Given the description of an element on the screen output the (x, y) to click on. 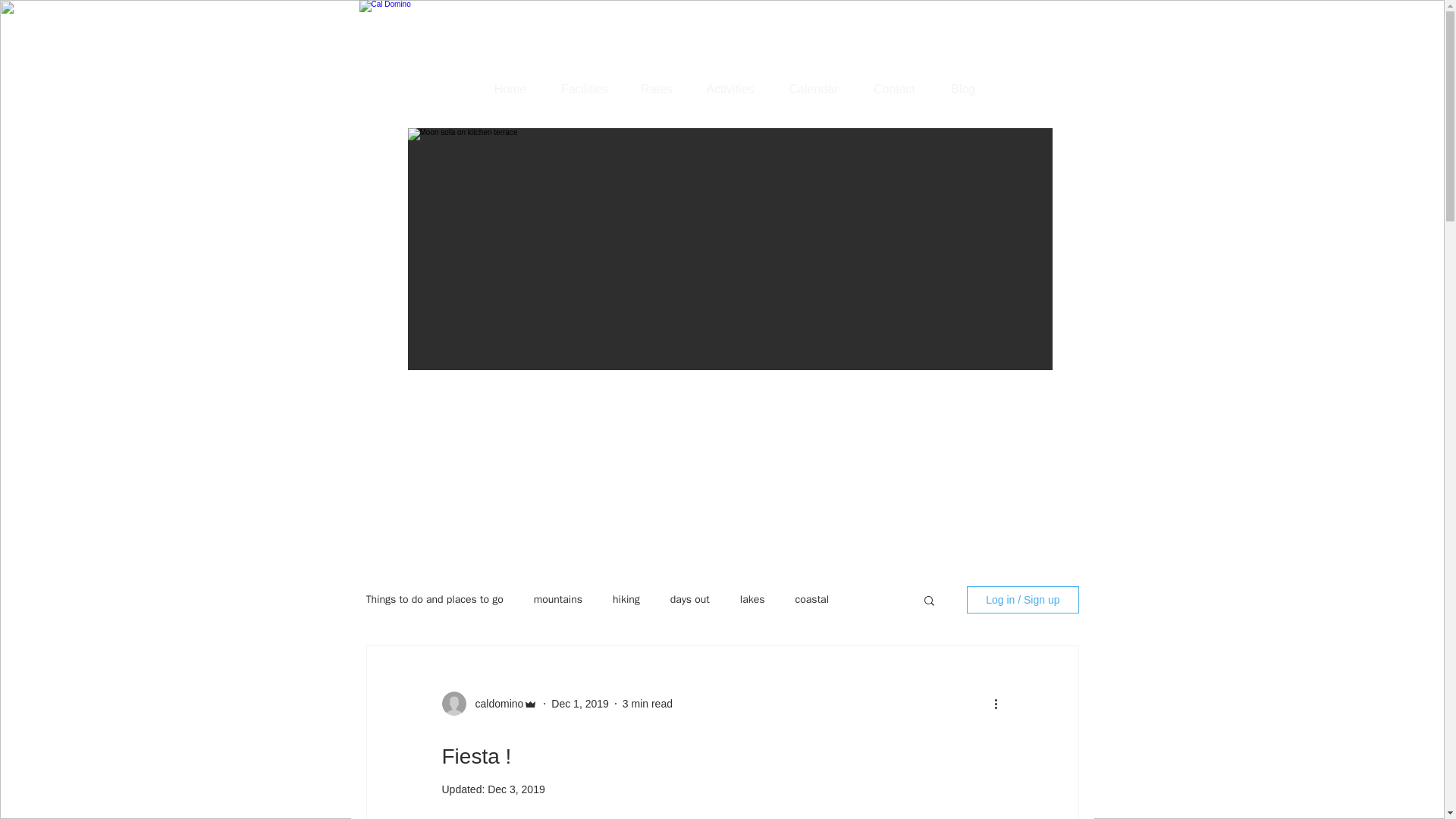
lakes (752, 599)
Cal Domino (416, 91)
caldomino (493, 703)
Calendar (813, 89)
Rates (656, 89)
days out (689, 599)
Facilities (584, 89)
coastal (811, 599)
Blog (962, 89)
Luxury - Privacy- Location (762, 41)
Activities (729, 89)
3 min read (647, 703)
hiking (626, 599)
Dec 1, 2019 (579, 703)
Dec 3, 2019 (515, 788)
